Given the description of an element on the screen output the (x, y) to click on. 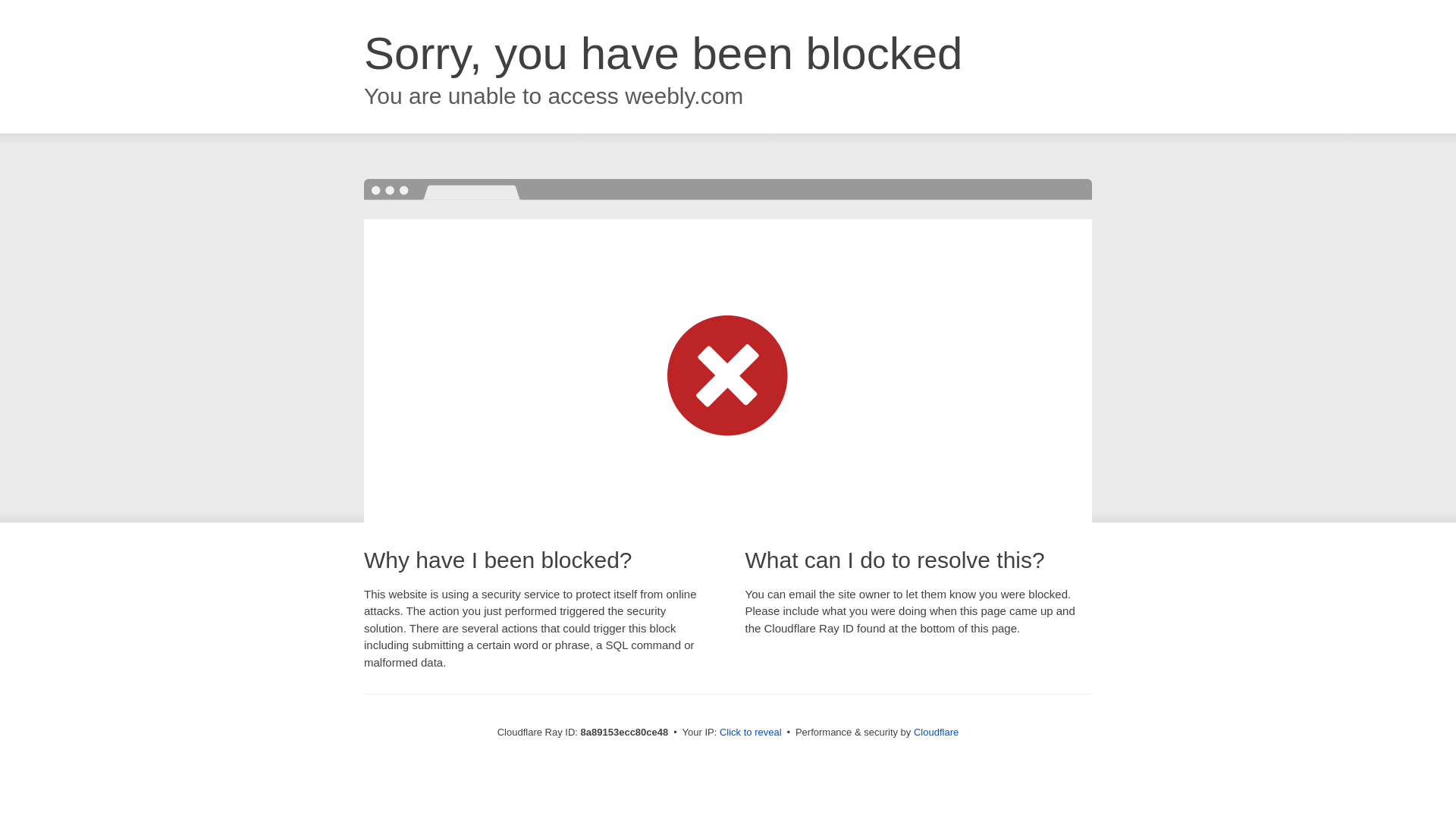
Click to reveal (750, 732)
Cloudflare (936, 731)
